Given the description of an element on the screen output the (x, y) to click on. 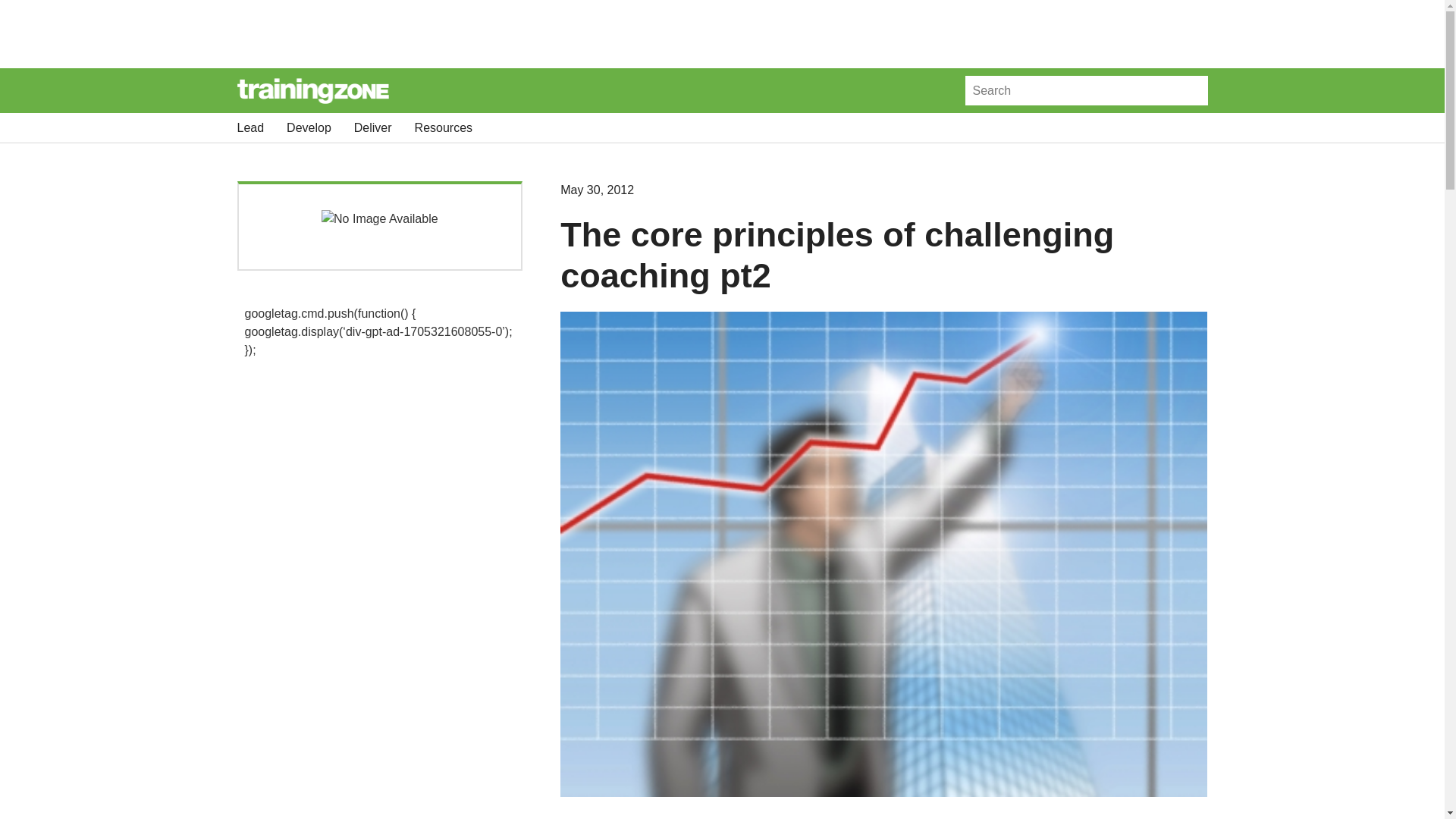
Develop (308, 127)
Resources (442, 127)
Deliver (372, 127)
Lead (249, 127)
